Given the description of an element on the screen output the (x, y) to click on. 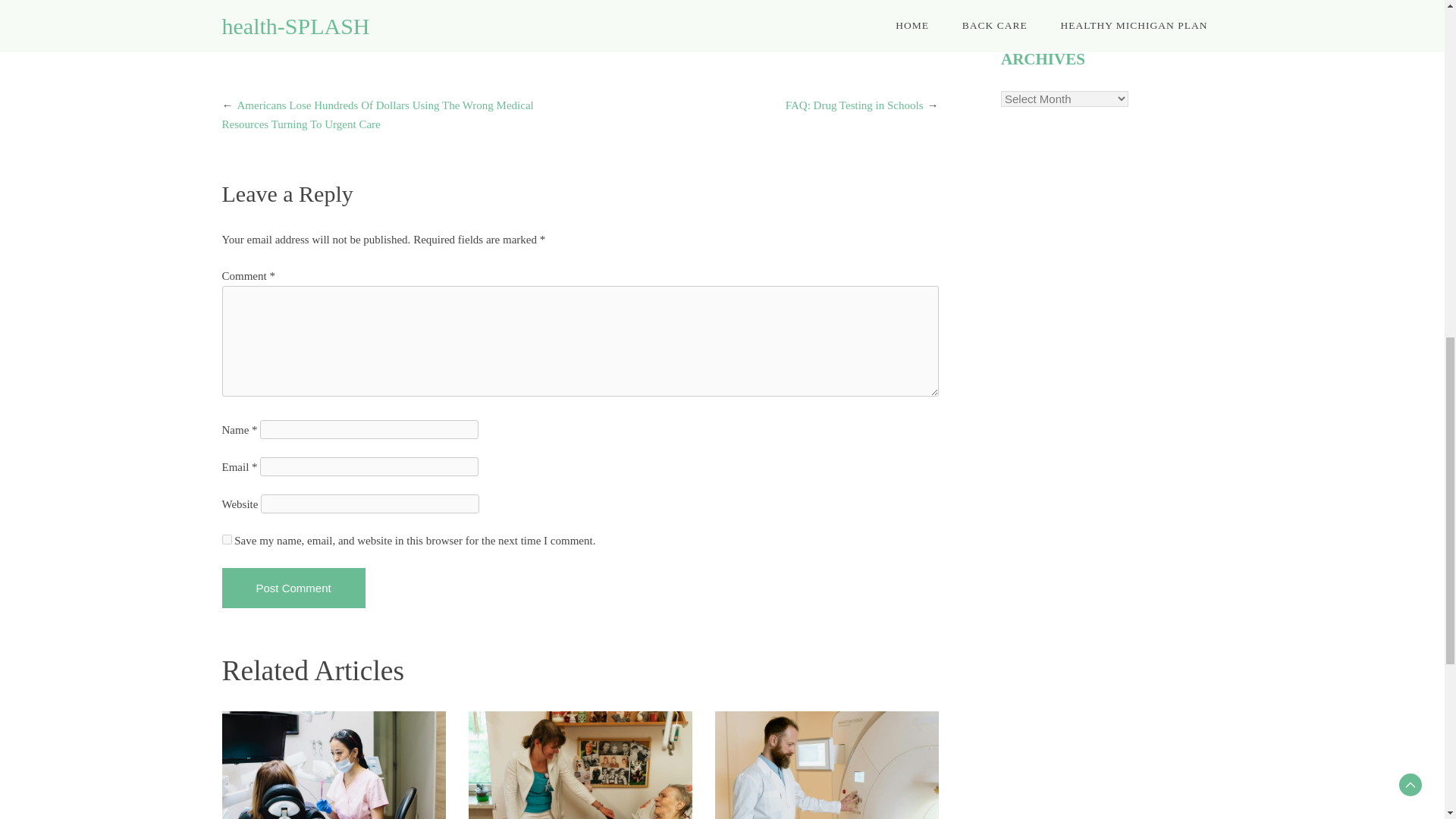
Post Comment (293, 588)
yes (226, 539)
Post Comment (293, 588)
FAQ: Drug Testing in Schools (854, 105)
